Given the description of an element on the screen output the (x, y) to click on. 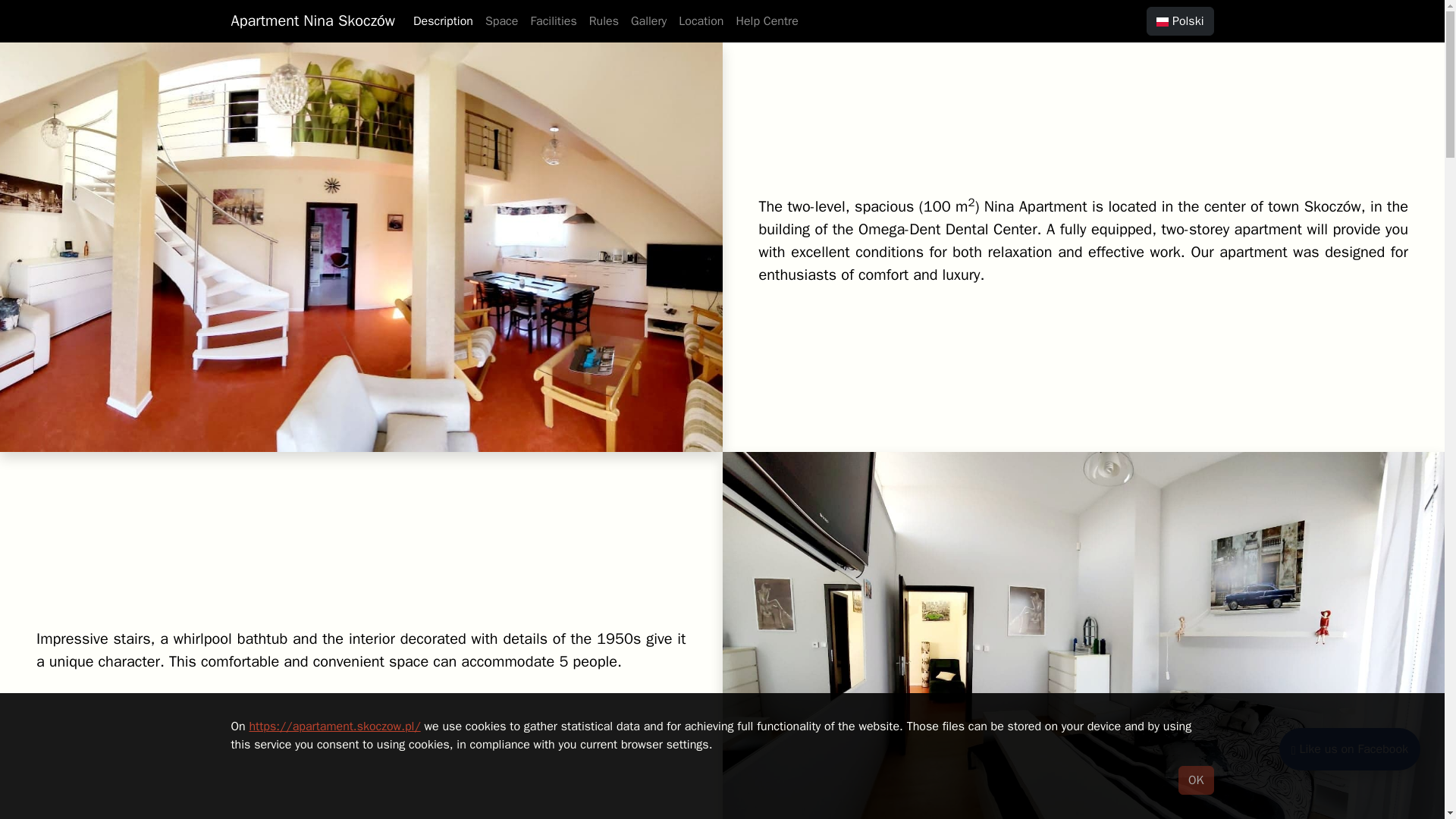
Polski (1179, 21)
Rules (603, 20)
Facilities (553, 20)
Gallery (648, 20)
Description (443, 20)
Like us on Facebook (1350, 749)
Space (501, 20)
Help Centre (766, 20)
Location (700, 20)
OK (1194, 779)
